Given the description of an element on the screen output the (x, y) to click on. 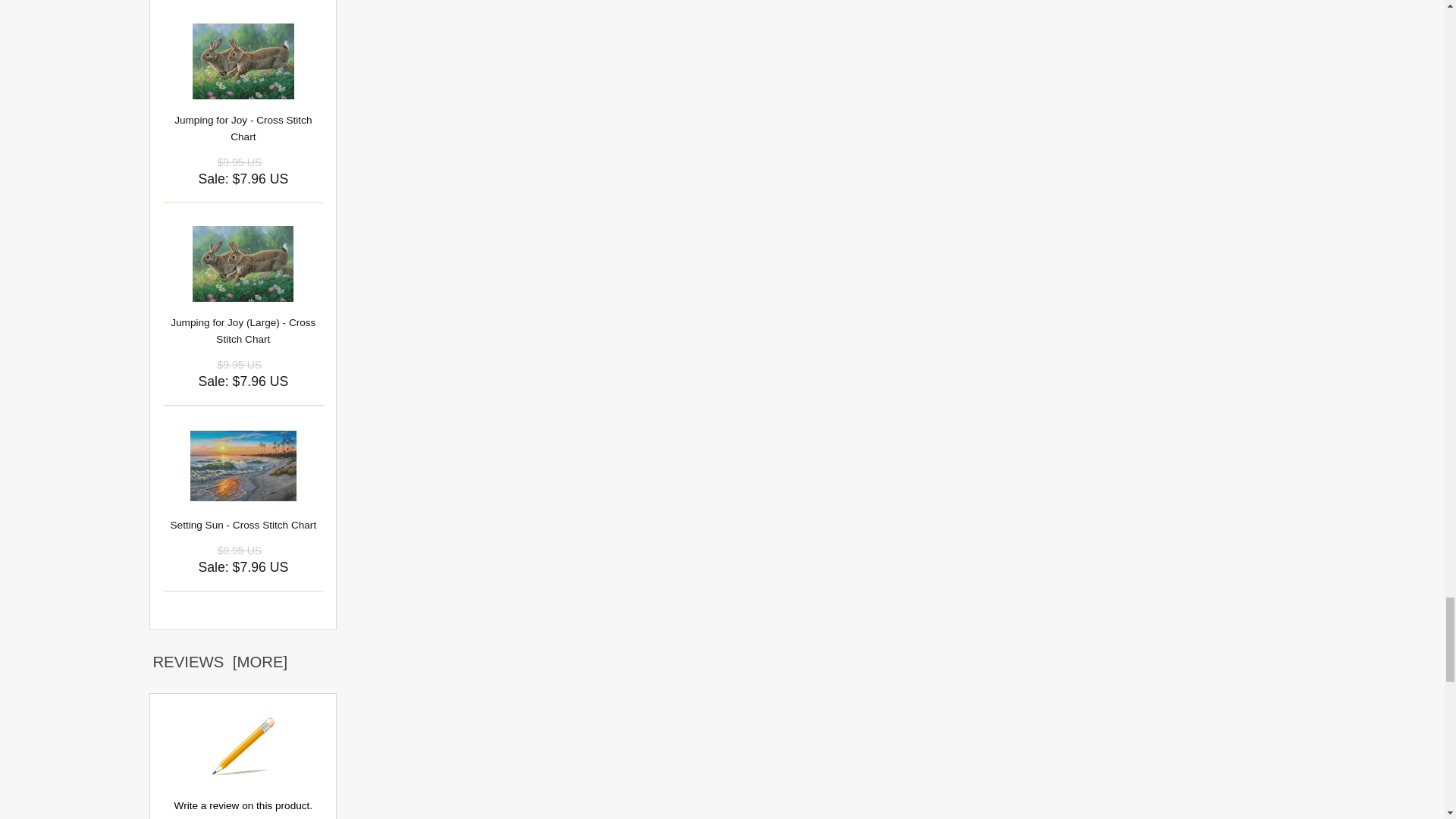
Write a review on this product. (243, 746)
Setting Sun - Cross Stitch Chart (243, 466)
Jumping for Joy - Cross Stitch Chart (243, 61)
